Given the description of an element on the screen output the (x, y) to click on. 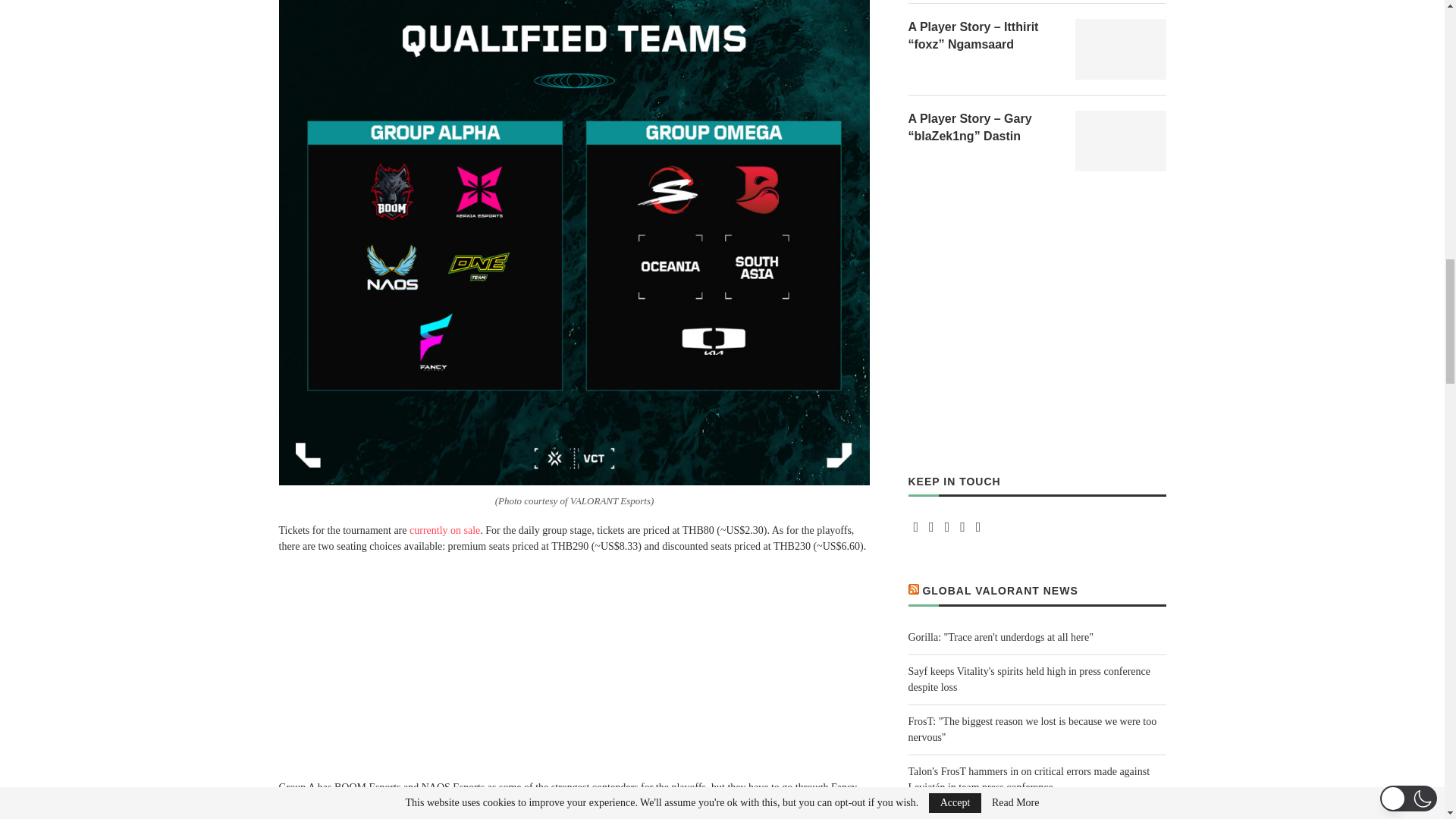
Advertisement (574, 673)
